Given the description of an element on the screen output the (x, y) to click on. 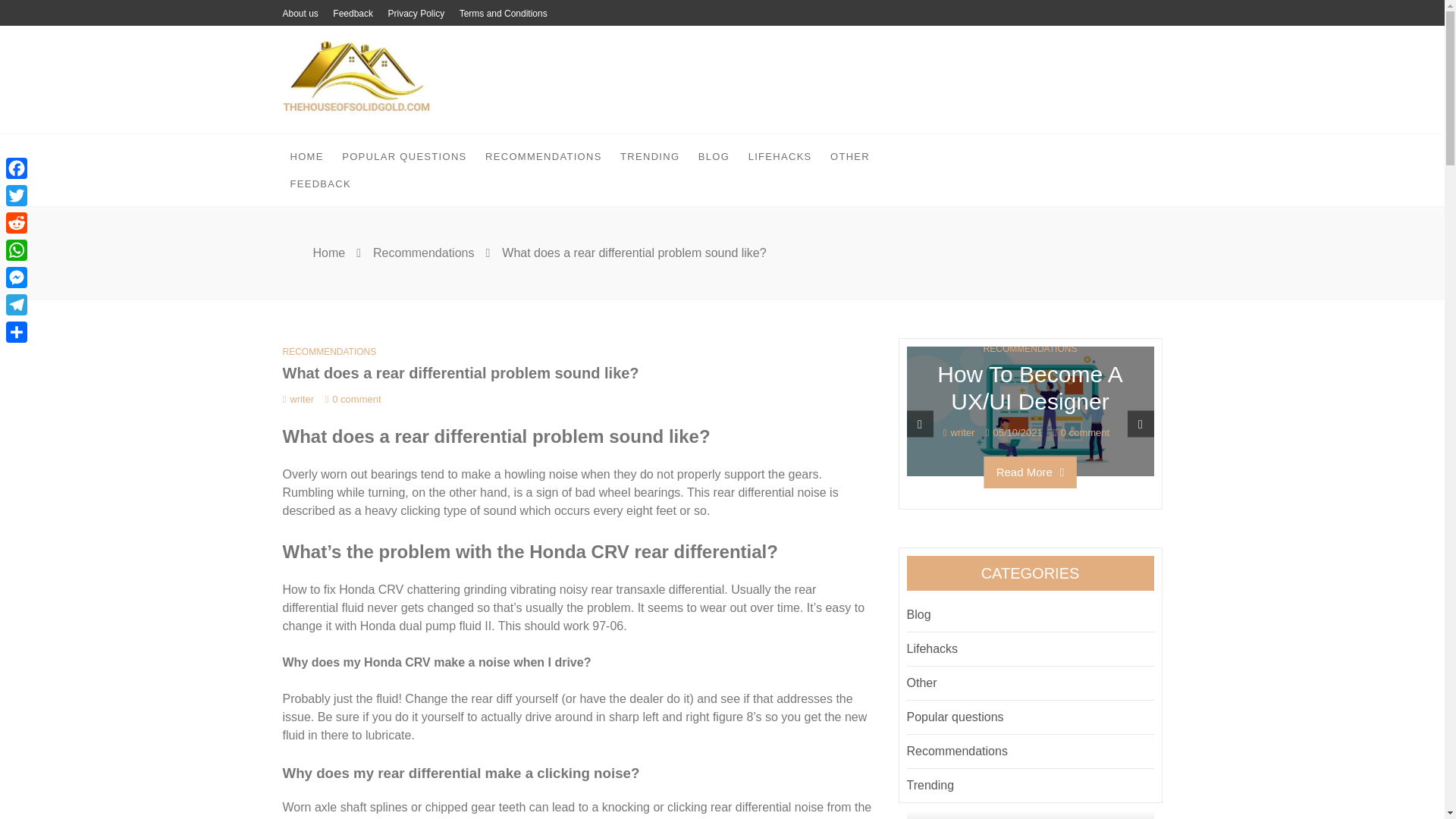
Feedback (352, 13)
Terms and Conditions (503, 13)
TRENDING (649, 156)
LIFEHACKS (780, 156)
FEEDBACK (320, 184)
Privacy Policy (415, 13)
POPULAR QUESTIONS (404, 156)
Home (329, 252)
5 Best Online Casino Game Providers in 2023 (783, 410)
HOME (306, 156)
writer (298, 398)
0 comment (352, 398)
RECOMMENDATIONS (543, 156)
OTHER (849, 156)
About us (299, 13)
